Given the description of an element on the screen output the (x, y) to click on. 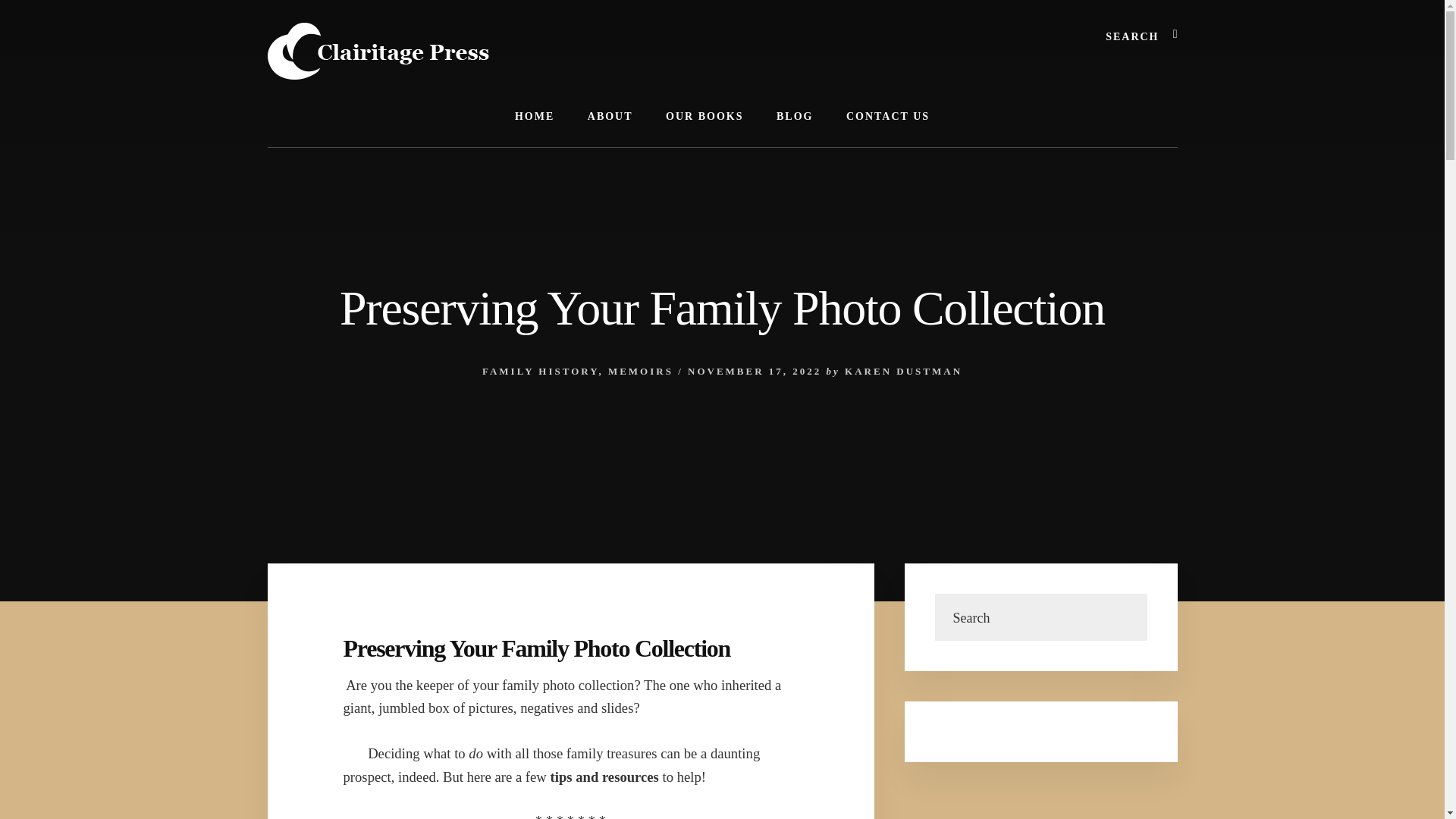
ABOUT (609, 116)
BLOG (794, 116)
CONTACT US (887, 116)
HOME (534, 116)
MEMOIRS (640, 370)
